Given the description of an element on the screen output the (x, y) to click on. 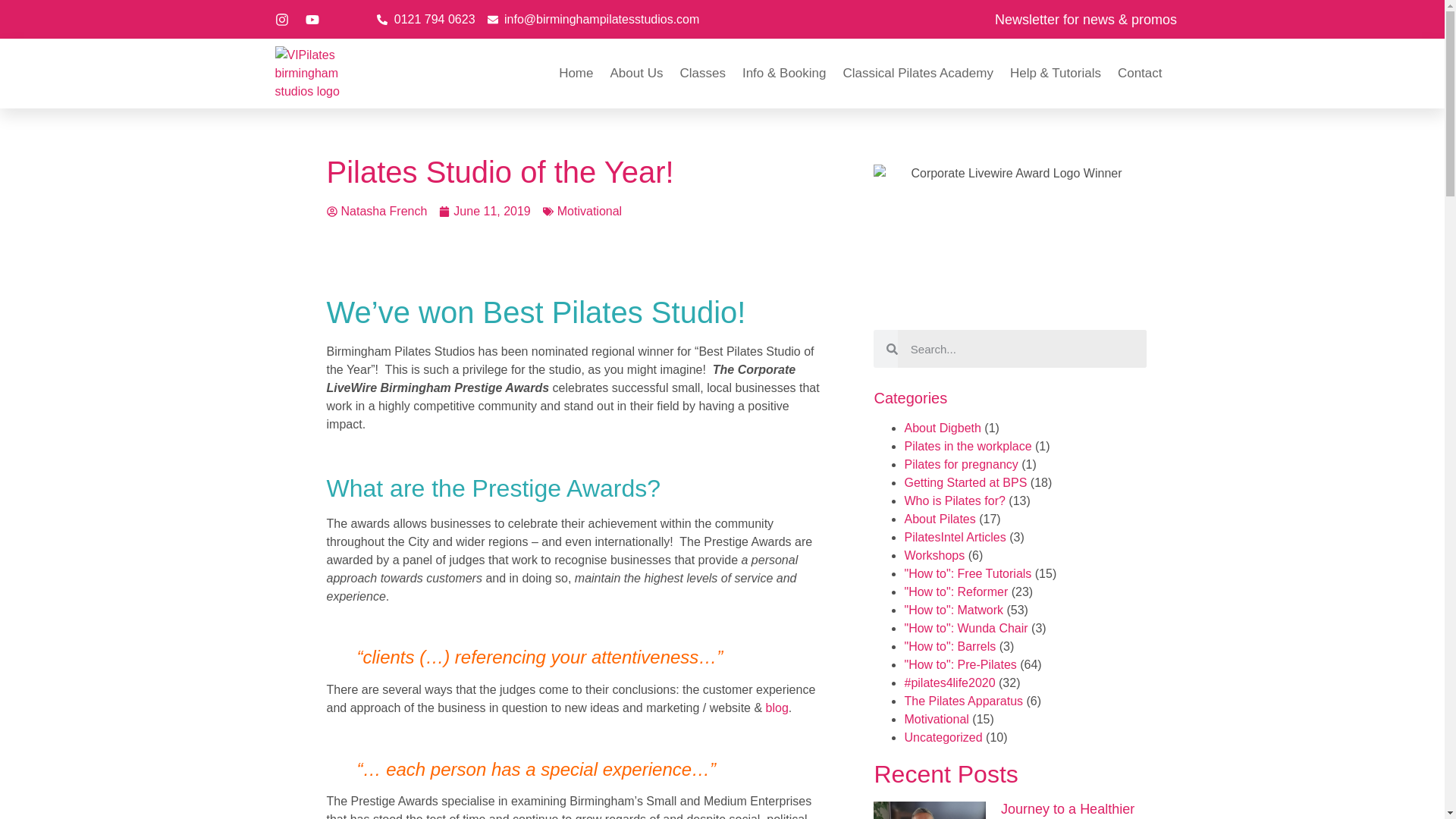
Contact (1139, 73)
About Us (636, 73)
June 11, 2019 (484, 211)
0121 794 0623 (425, 19)
Classical Pilates Academy (917, 73)
Getting Started at BPS (965, 481)
About Digbeth (941, 427)
Who is Pilates for? (954, 500)
About Pilates (939, 518)
Motivational (589, 210)
VIPilates birmingham studios logo (311, 72)
Classes (702, 73)
Pilates for pregnancy (960, 463)
blog (777, 707)
Home (575, 73)
